Given the description of an element on the screen output the (x, y) to click on. 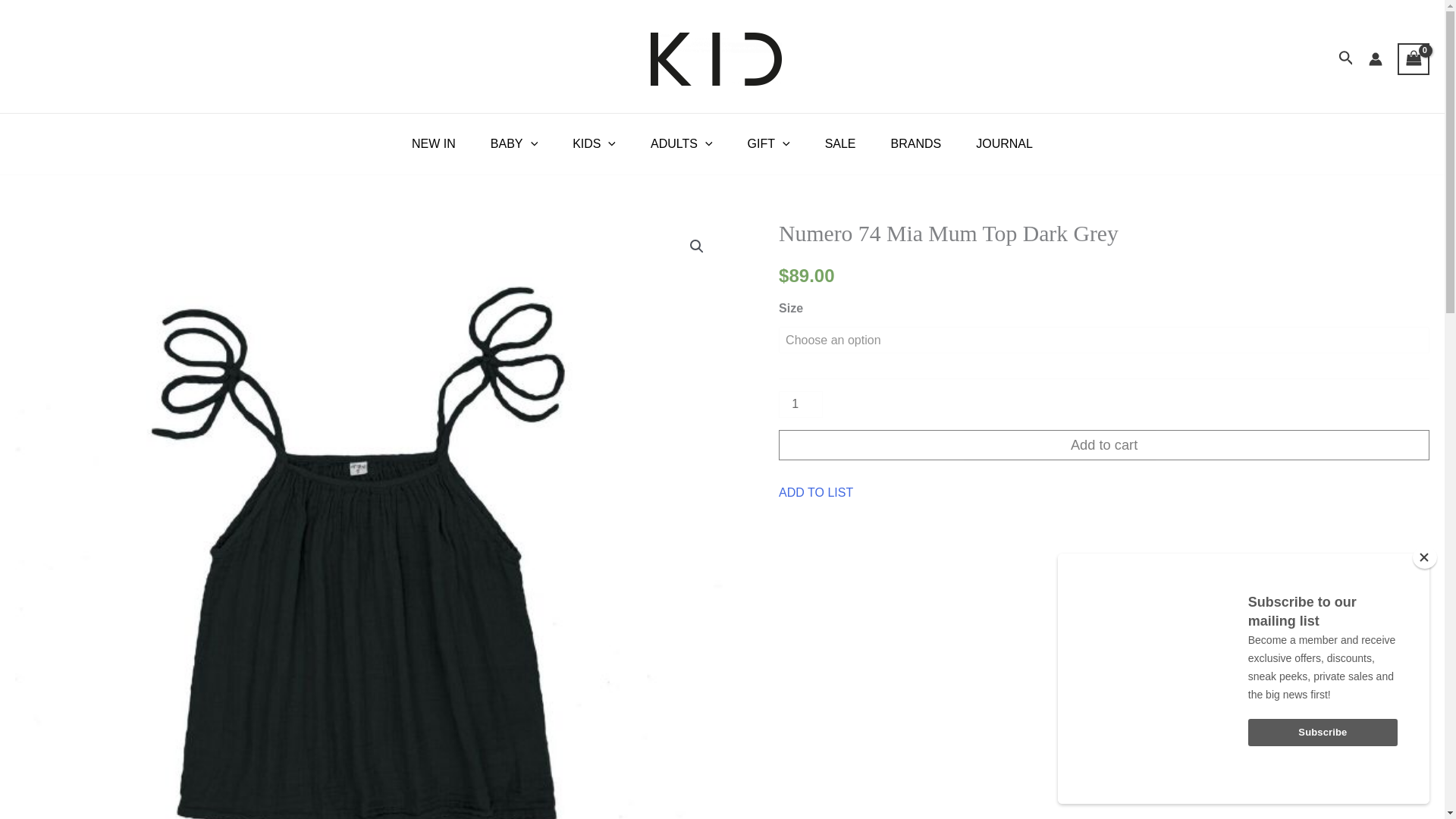
NEW IN (433, 143)
BABY (513, 143)
1 (800, 404)
